Given the description of an element on the screen output the (x, y) to click on. 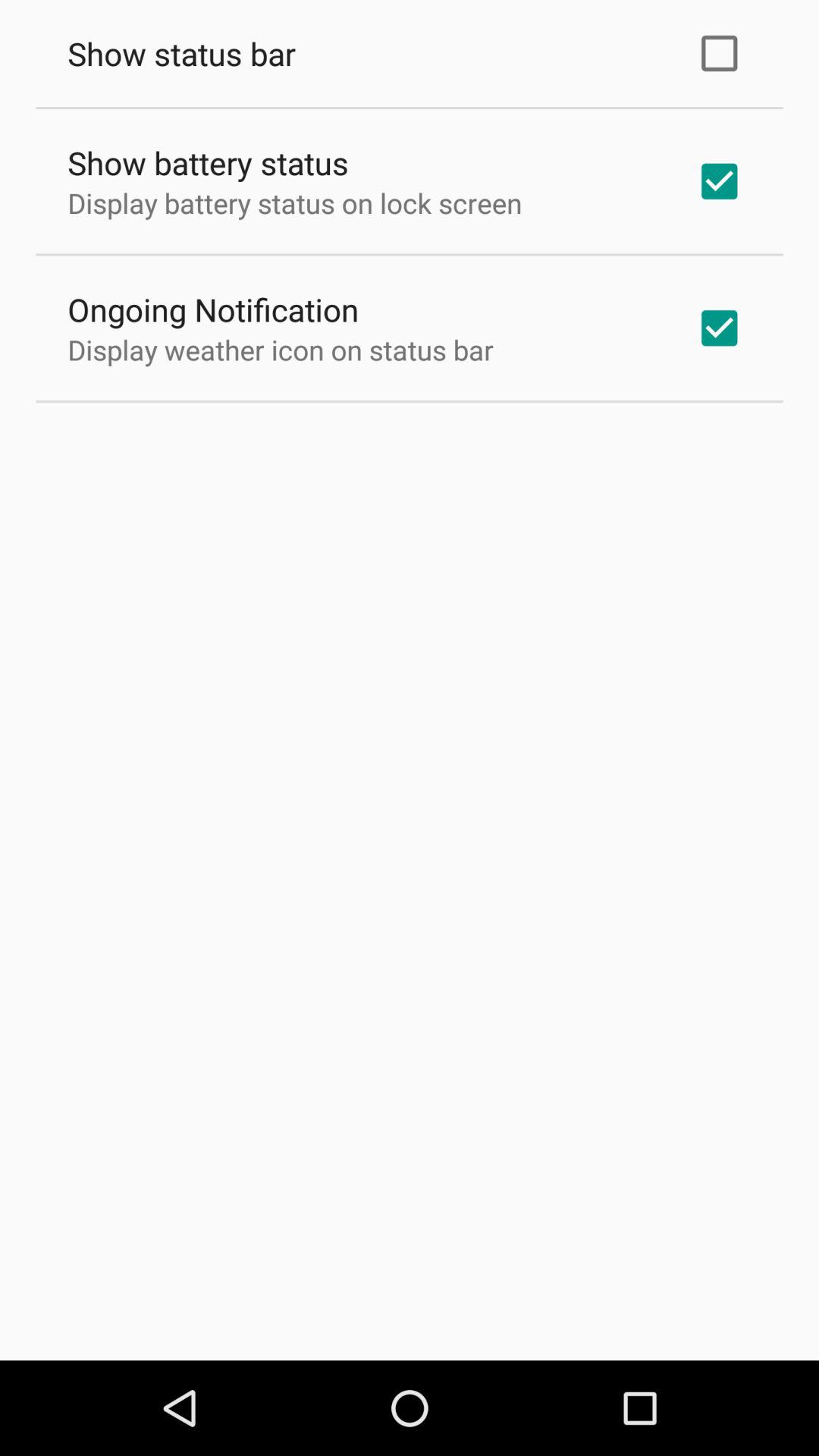
launch the ongoing notification item (212, 309)
